Given the description of an element on the screen output the (x, y) to click on. 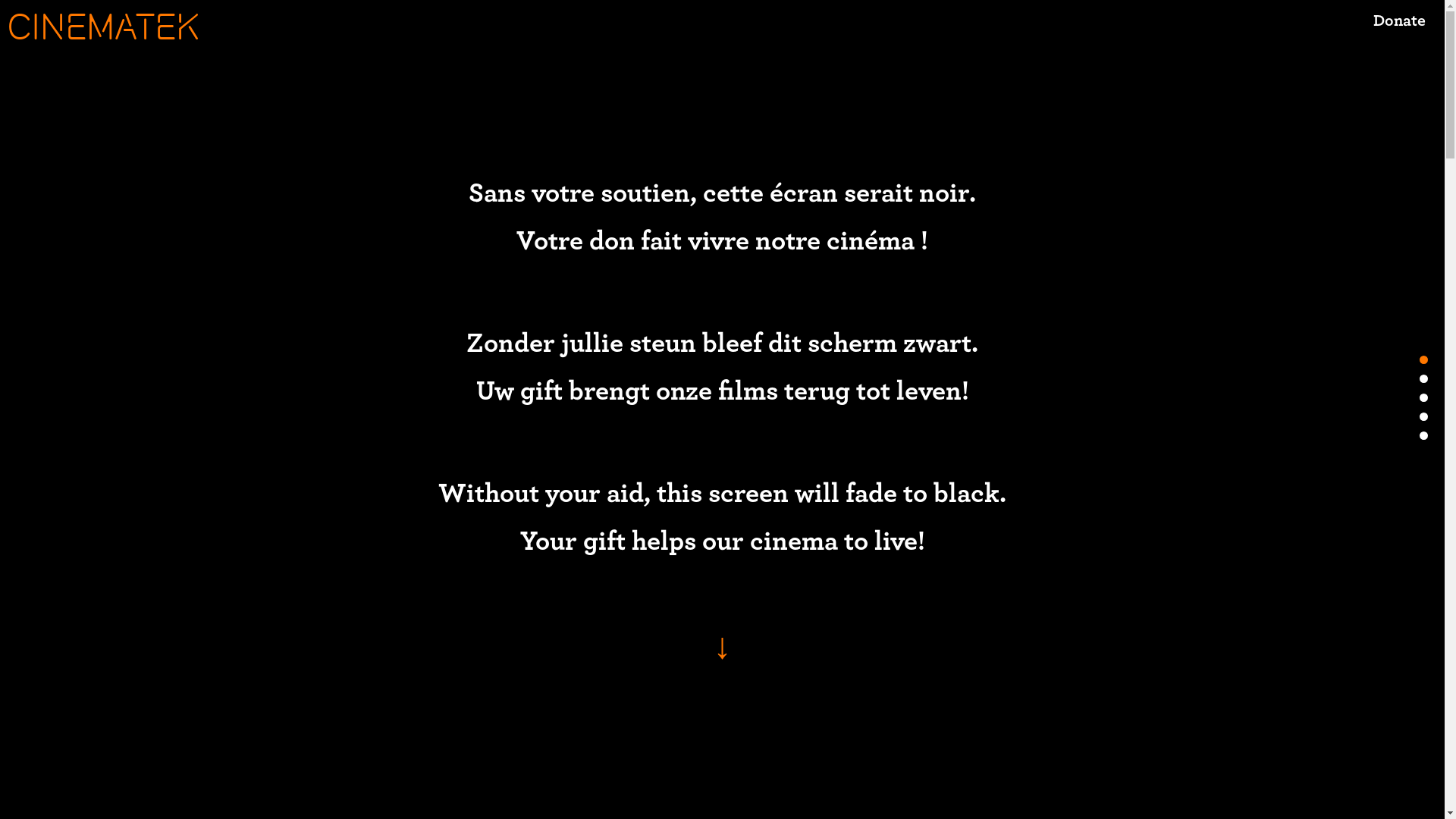
Donate Element type: text (1399, 31)
CINEMATEK Element type: text (113, 26)
